Given the description of an element on the screen output the (x, y) to click on. 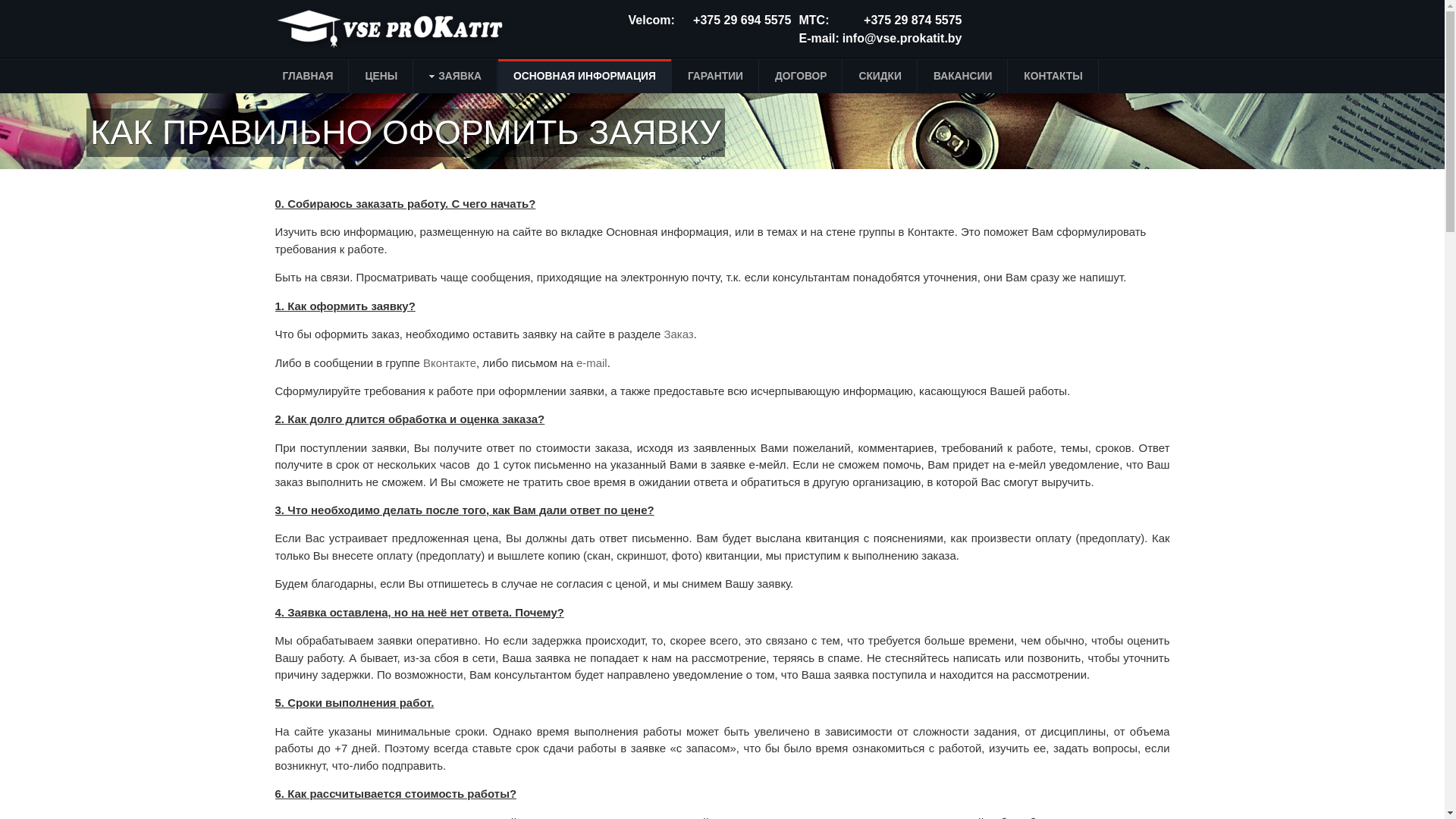
e-mail Element type: text (591, 362)
+375 29 694 5575 Element type: text (741, 20)
VseProkatit.by Element type: hover (397, 28)
info@vse.prokatit.by Element type: text (902, 38)
+375 29 874 5575 Element type: text (912, 20)
